Given the description of an element on the screen output the (x, y) to click on. 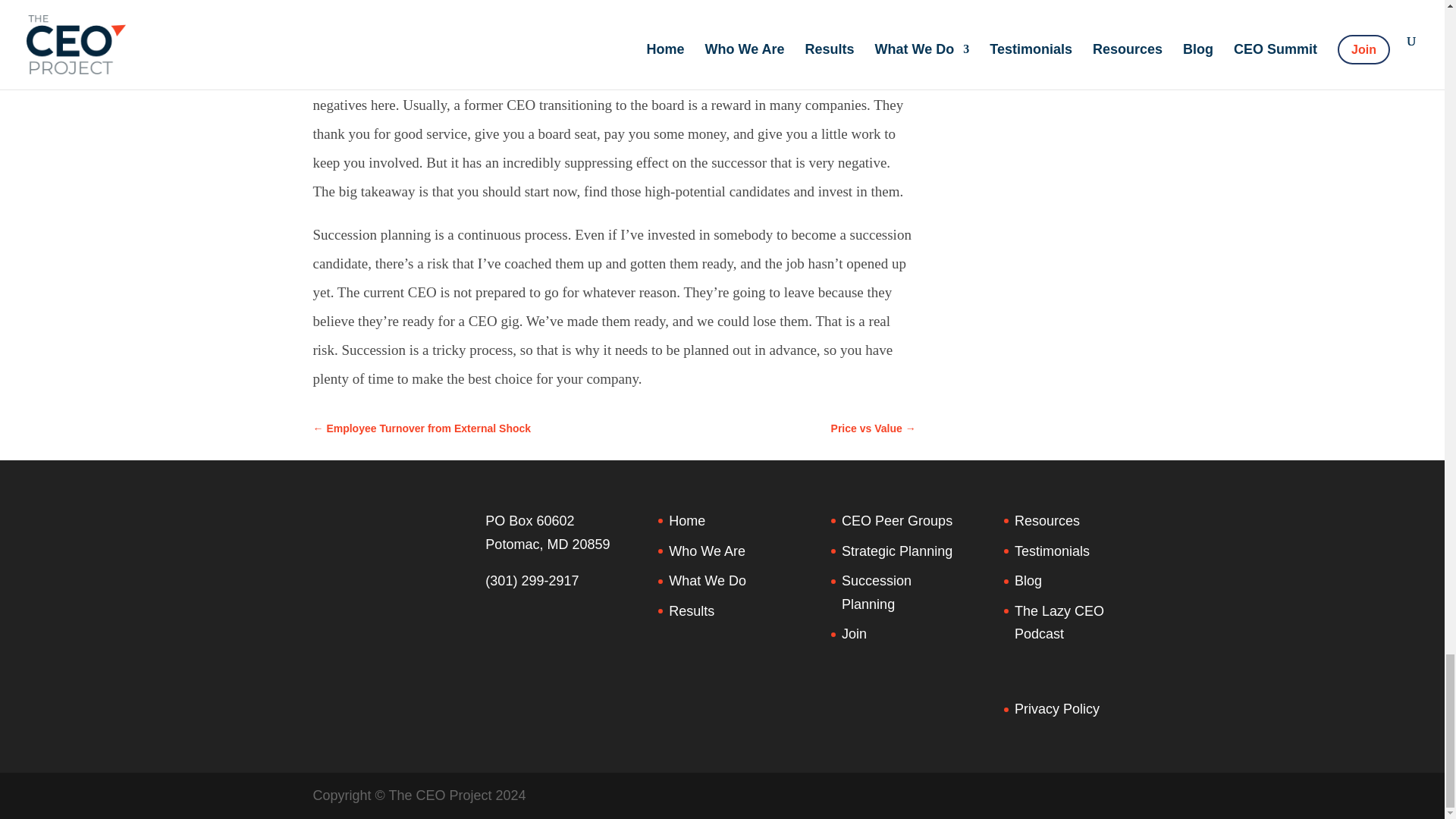
Telephone (531, 580)
